Given the description of an element on the screen output the (x, y) to click on. 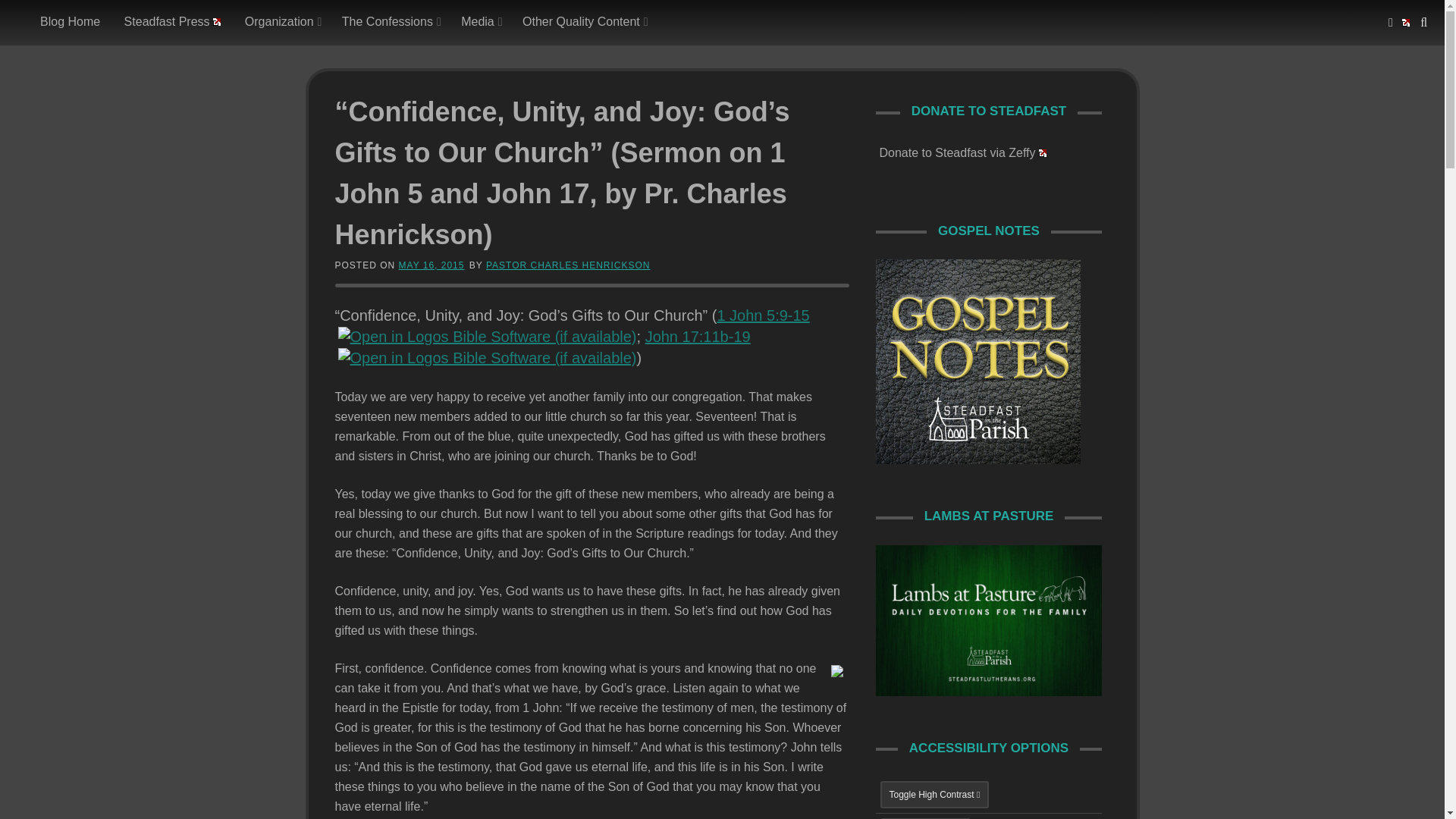
Other Quality Content (582, 22)
Media (479, 22)
Blog Home (70, 22)
The Confessions (388, 22)
Organization (281, 22)
Steadfast Press (173, 22)
